Given the description of an element on the screen output the (x, y) to click on. 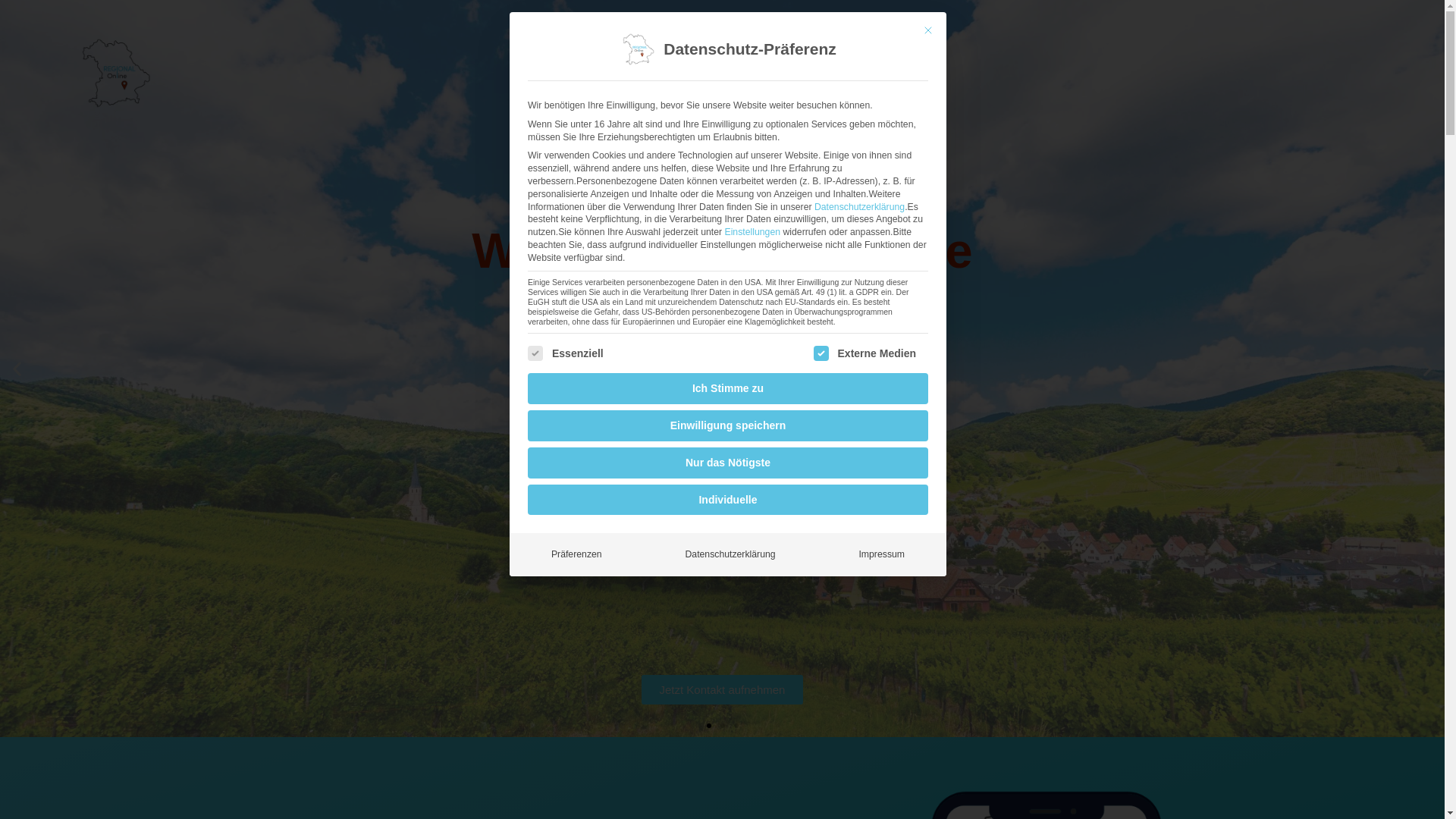
Individuelle Element type: text (727, 499)
Einwilligung speichern Element type: text (727, 425)
Impressum Element type: text (881, 554)
Wir digitalisieren Ihre
Gemeinde
Jetzt Kontakt aufnehmen Element type: text (722, 368)
Einstellungen Element type: text (752, 231)
Ich Stimme zu Element type: text (727, 388)
